Given the description of an element on the screen output the (x, y) to click on. 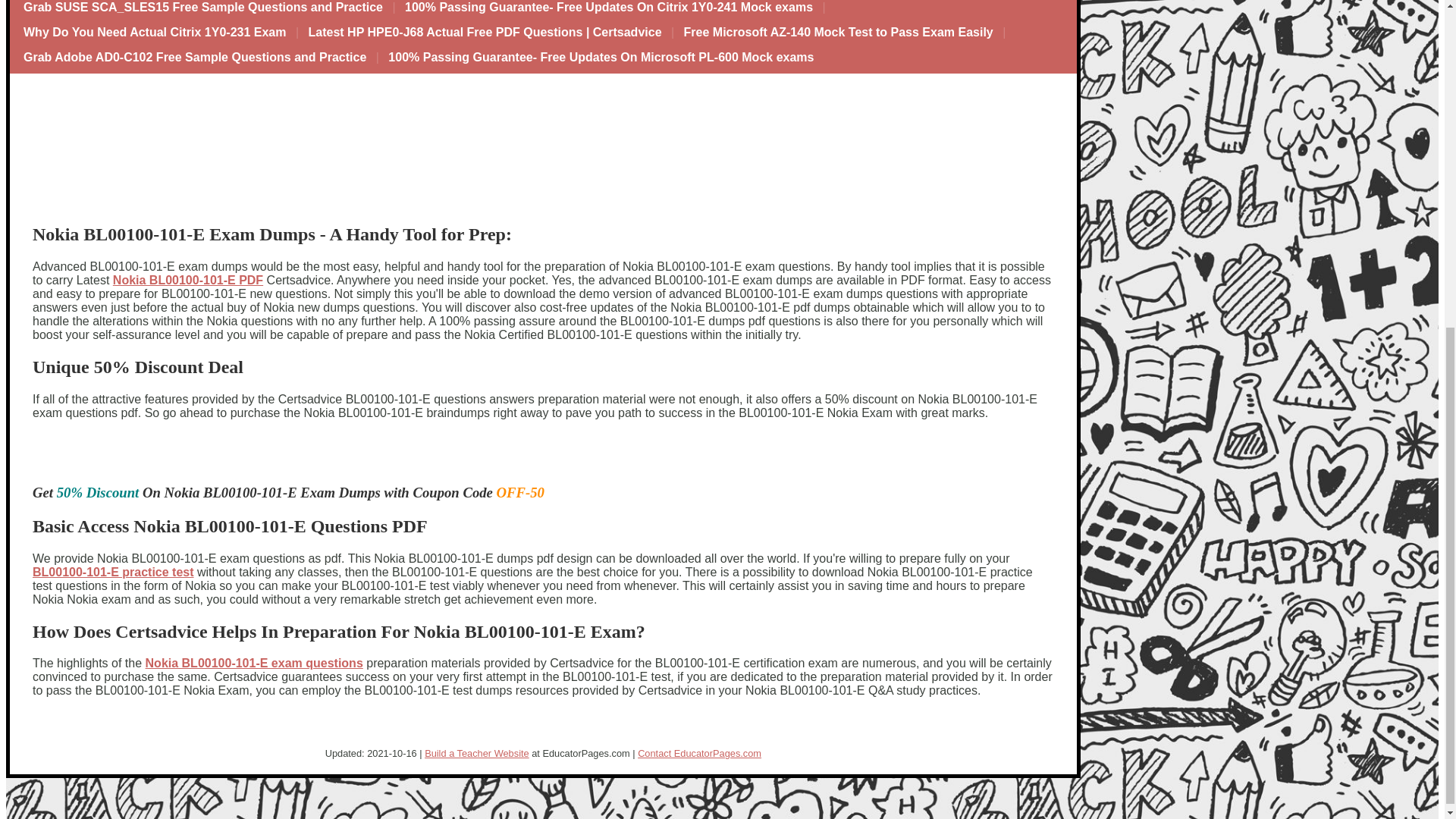
Advertisement (95, 158)
Why Do You Need Actual Citrix 1Y0-231 Exam (154, 32)
